Given the description of an element on the screen output the (x, y) to click on. 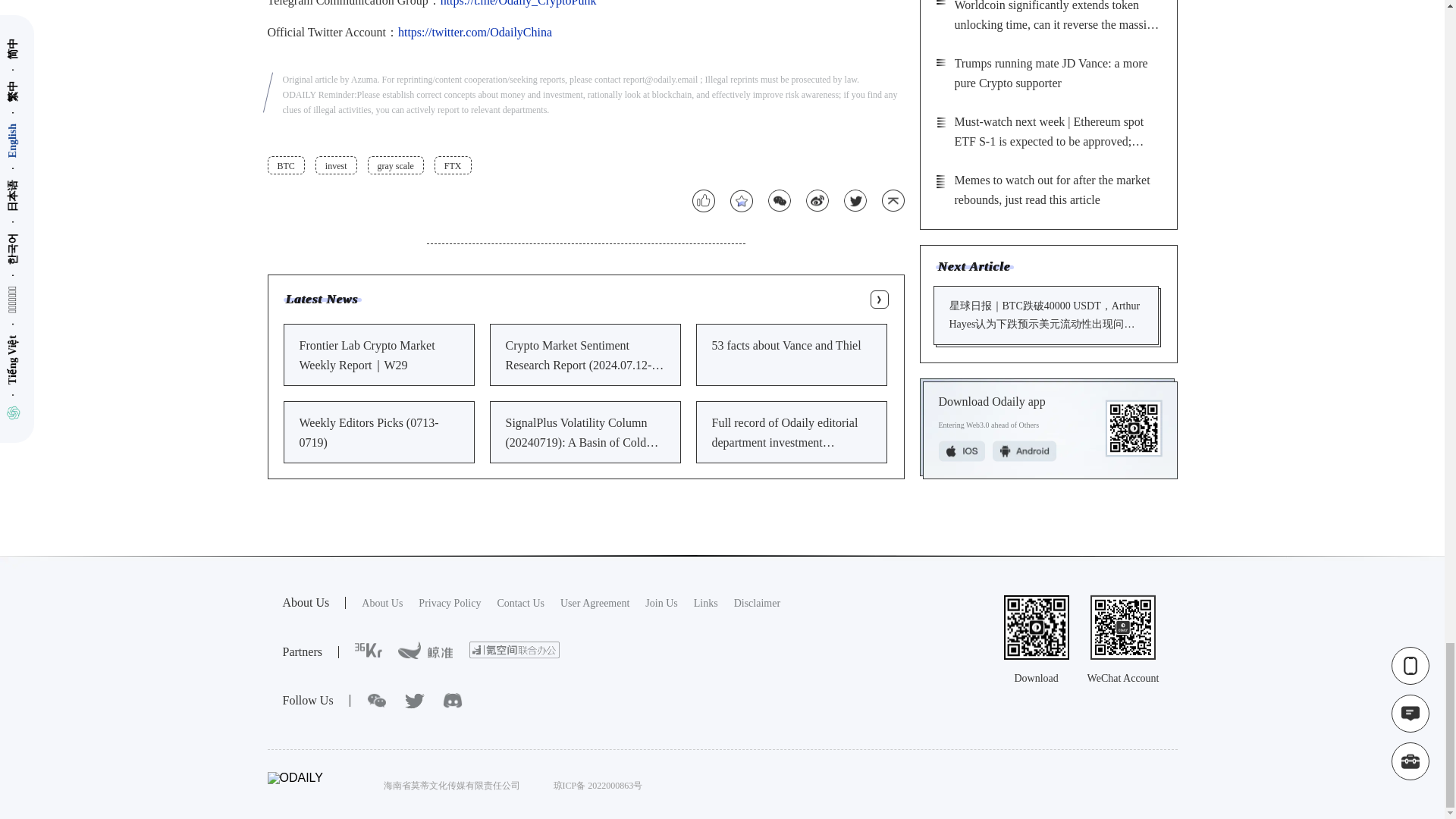
Odaily (449, 603)
Odaily (424, 650)
Odaily (368, 650)
Odaily (594, 603)
Share to Twitter (854, 200)
Odaily (514, 650)
Odaily (382, 603)
Odaily (520, 603)
Odaily (756, 603)
Odaily (661, 603)
Odaily (705, 603)
